Given the description of an element on the screen output the (x, y) to click on. 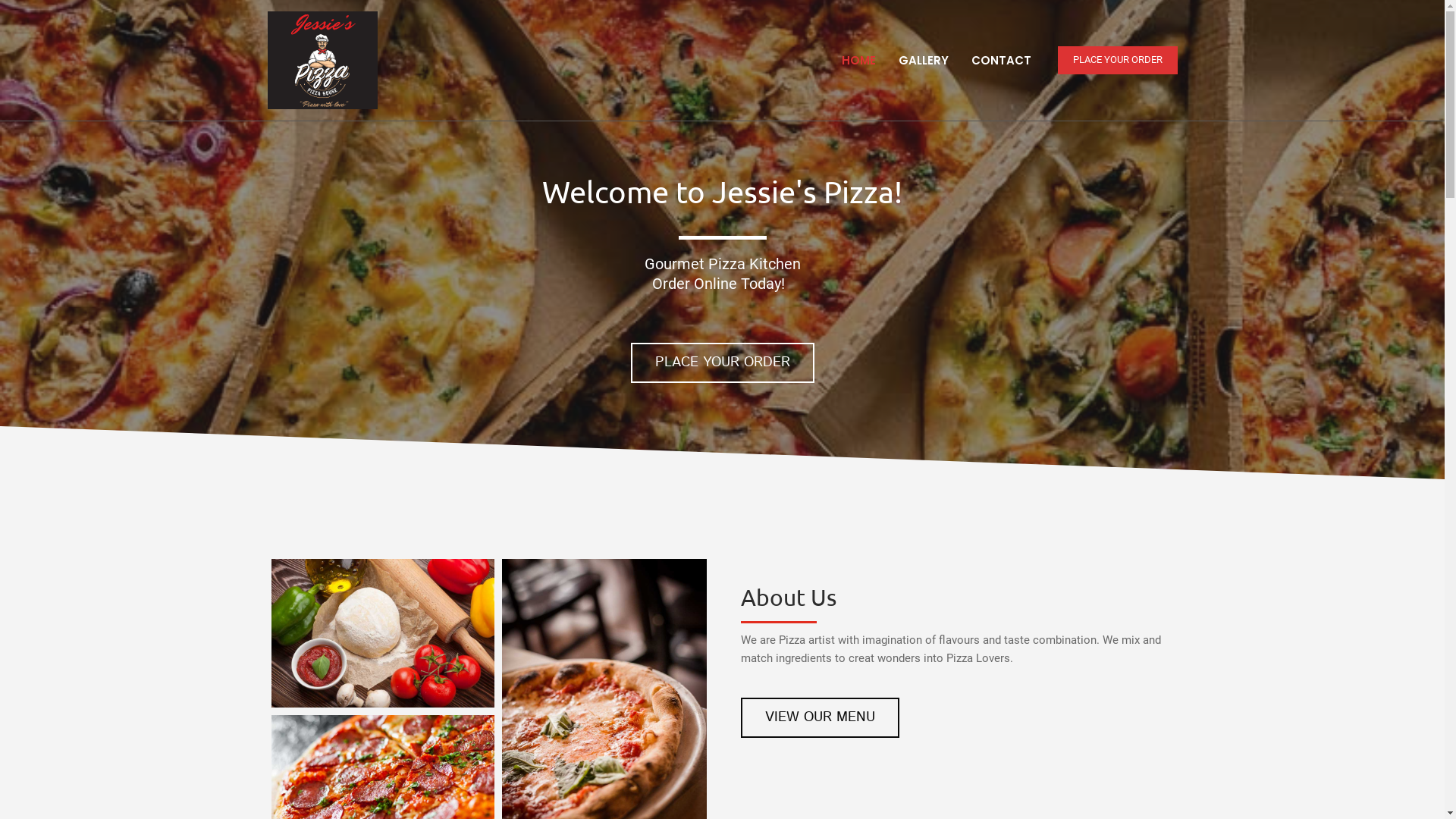
img-800px-004 Element type: hover (382, 632)
PLACE YOUR ORDER Element type: text (1116, 60)
HOME Element type: text (857, 59)
CONTACT Element type: text (1001, 59)
VIEW OUR MENU Element type: text (819, 717)
PLACE YOUR ORDER Element type: text (722, 362)
GALLERY Element type: text (923, 59)
